Given the description of an element on the screen output the (x, y) to click on. 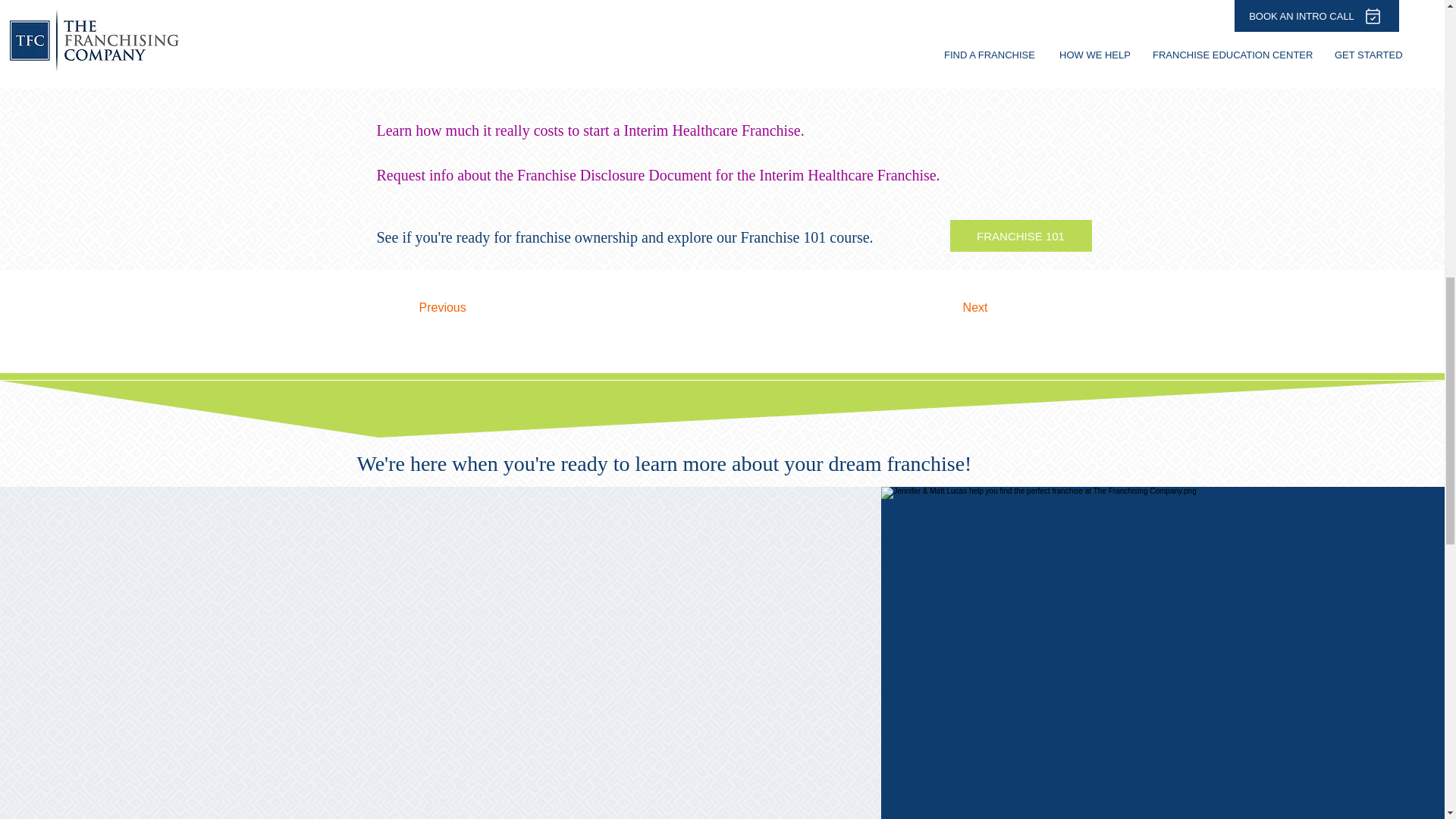
Previous (467, 307)
Next (949, 307)
FRANCHISE 101 (1019, 235)
